Given the description of an element on the screen output the (x, y) to click on. 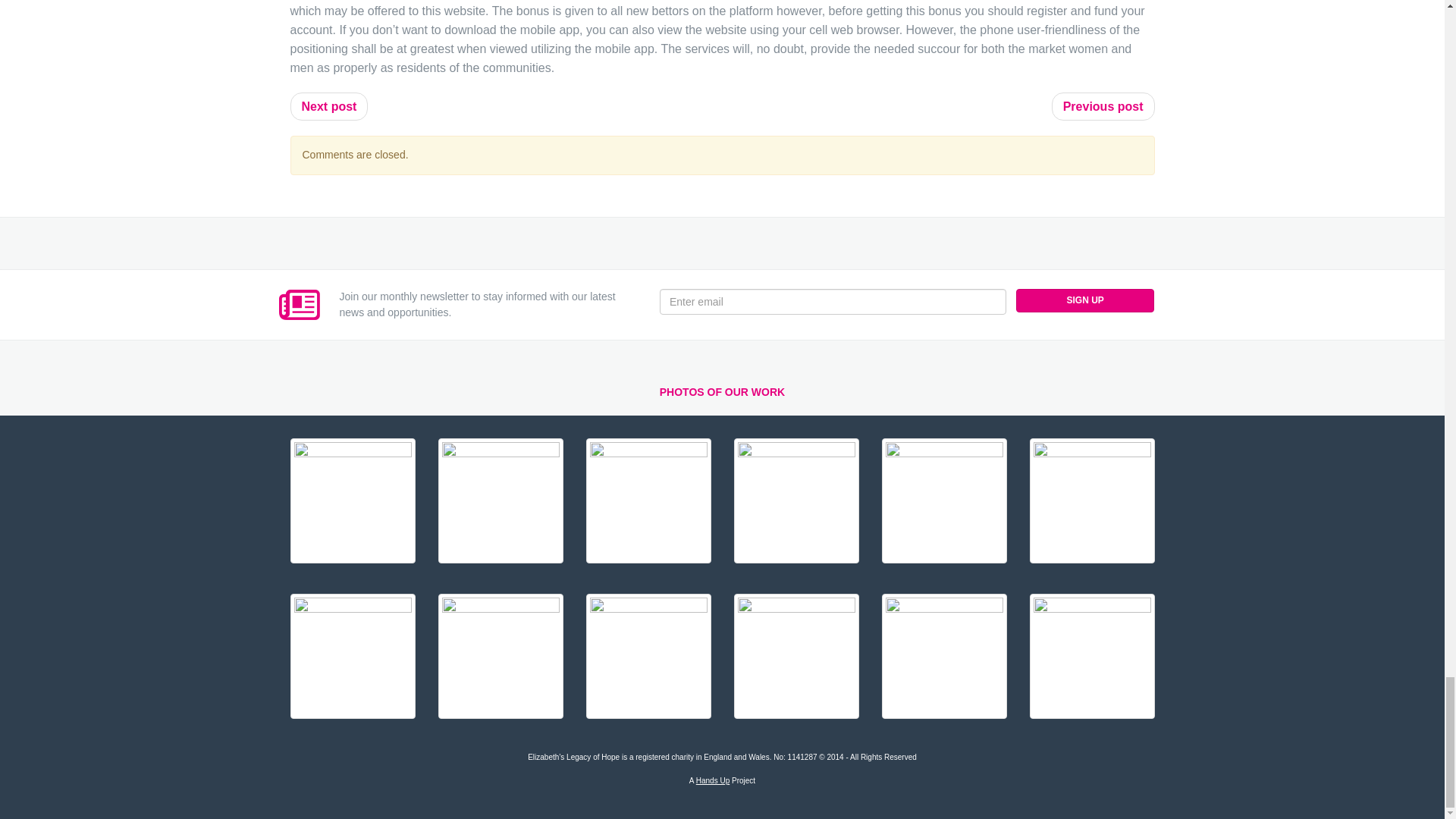
Next post (328, 106)
Previous post (1102, 106)
SIGN UP (1085, 300)
